Given the description of an element on the screen output the (x, y) to click on. 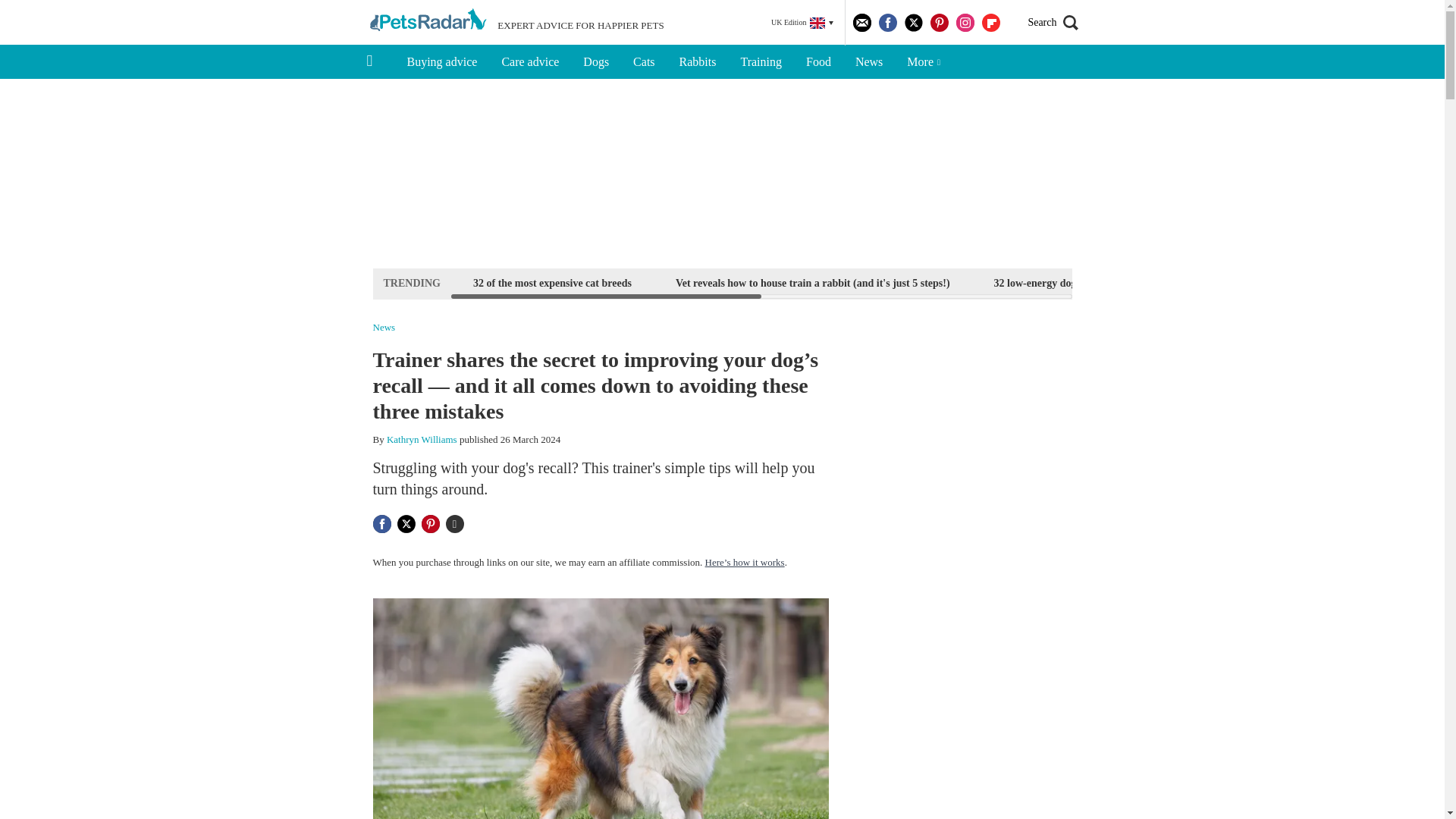
Kathryn Williams (422, 439)
32 of the most expensive cat breeds (552, 282)
Rabbits (697, 61)
Food (818, 61)
Cats (643, 61)
Dogs (595, 61)
News (869, 61)
Training (760, 61)
Care advice (529, 61)
Best rabbit toys 2024 (1315, 282)
Buying advice (441, 61)
32 low-energy dog breeds for laid-back pet parents (1108, 282)
UK Edition (801, 22)
EXPERT ADVICE FOR HAPPIER PETS (514, 22)
